Given the description of an element on the screen output the (x, y) to click on. 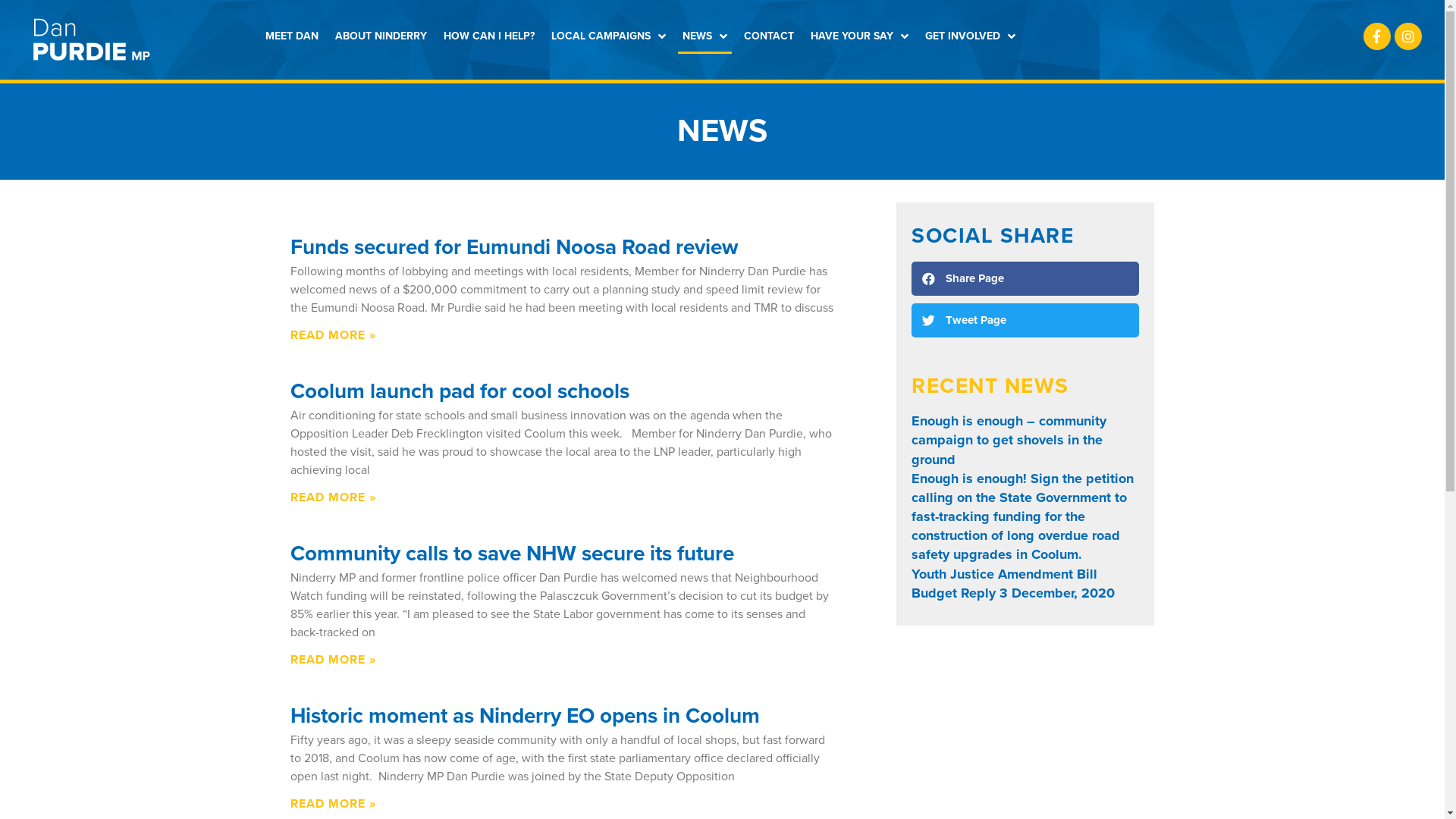
Historic moment as Ninderry EO opens in Coolum Element type: text (524, 715)
HOW CAN I HELP? Element type: text (489, 35)
Coolum launch pad for cool schools Element type: text (458, 391)
Budget Reply 3 December, 2020 Element type: text (1012, 592)
LOCAL CAMPAIGNS Element type: text (608, 35)
HAVE YOUR SAY Element type: text (859, 35)
GET INVOLVED Element type: text (969, 35)
Youth Justice Amendment Bill Element type: text (1004, 573)
NEWS Element type: text (704, 35)
Community calls to save NHW secure its future Element type: text (511, 553)
ABOUT NINDERRY Element type: text (380, 35)
Funds secured for Eumundi Noosa Road review Element type: text (513, 247)
CONTACT Element type: text (768, 35)
MEET DAN Element type: text (291, 35)
